Given the description of an element on the screen output the (x, y) to click on. 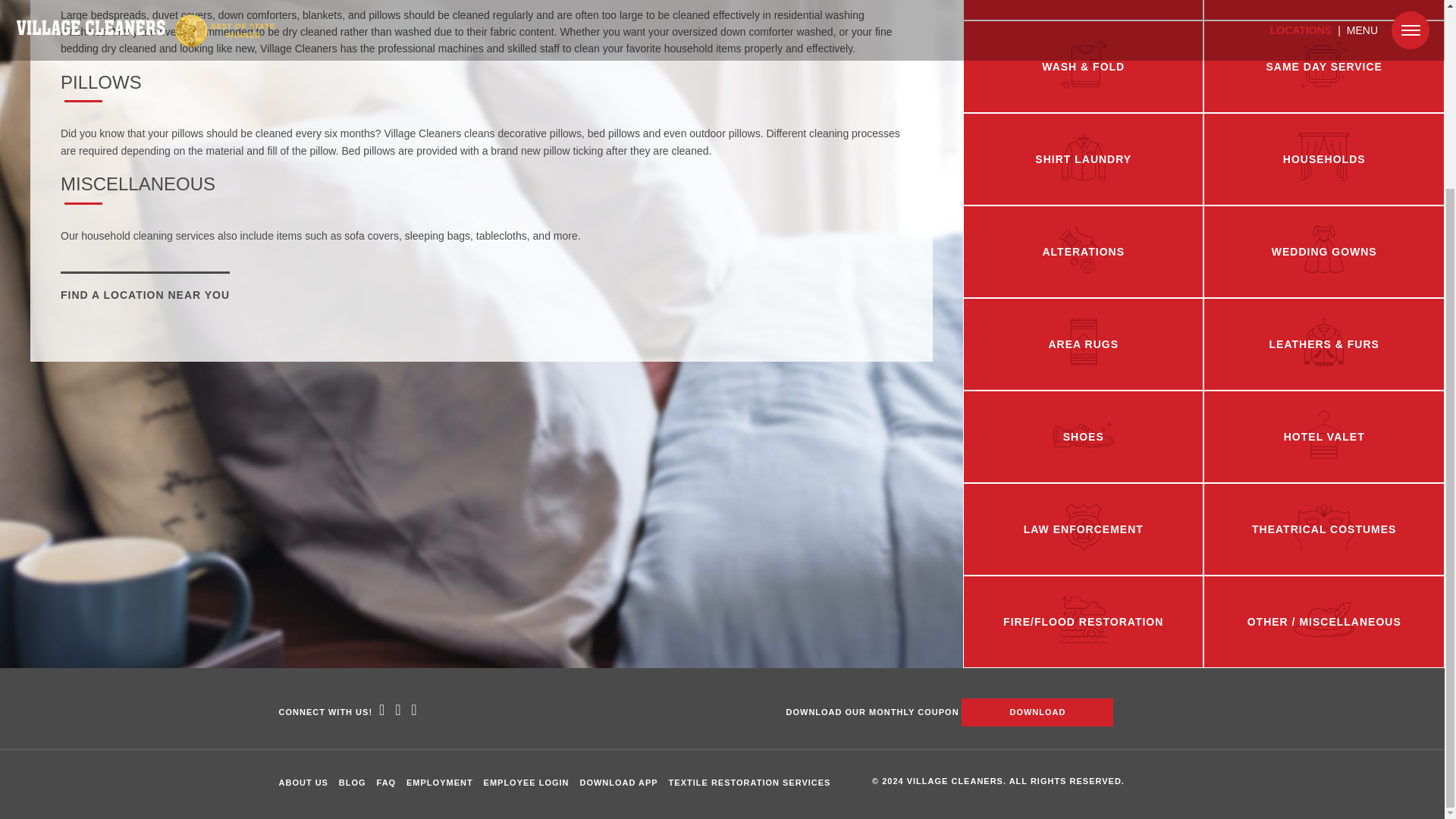
THEATRICAL COSTUMES (1323, 529)
HOUSEHOLDS (1323, 158)
WEDDING GOWNS (1323, 251)
ALTERATIONS (1082, 251)
FIND A LOCATION NEAR YOU (145, 294)
AREA RUGS (1082, 343)
SHOES (1082, 436)
HOTEL VALET (1323, 436)
SAME DAY SERVICE (1323, 66)
DOWNLOAD (1036, 712)
